Given the description of an element on the screen output the (x, y) to click on. 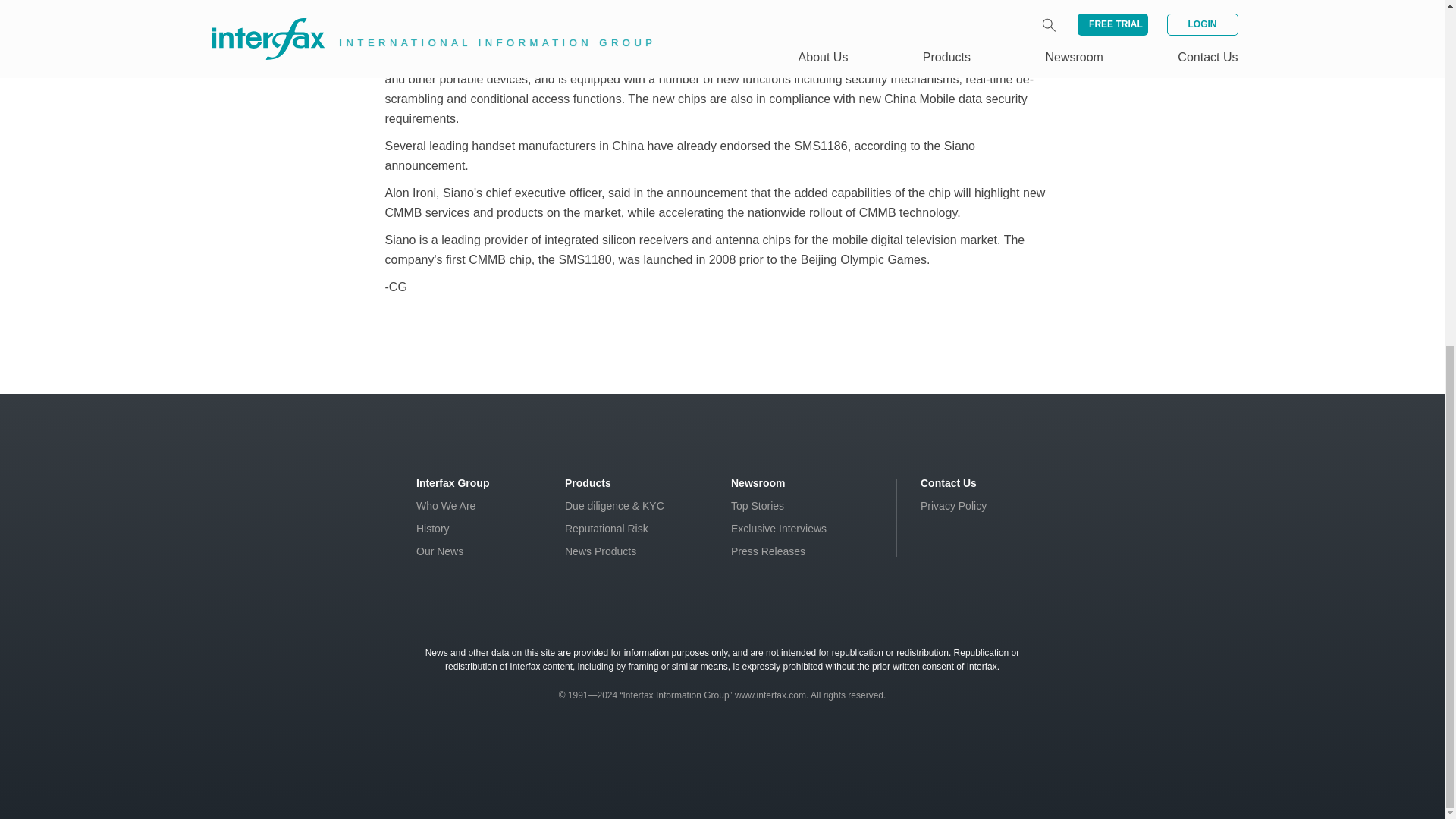
Interfax Group (452, 482)
History (432, 528)
Who We Are (446, 505)
Our News (439, 551)
